Given the description of an element on the screen output the (x, y) to click on. 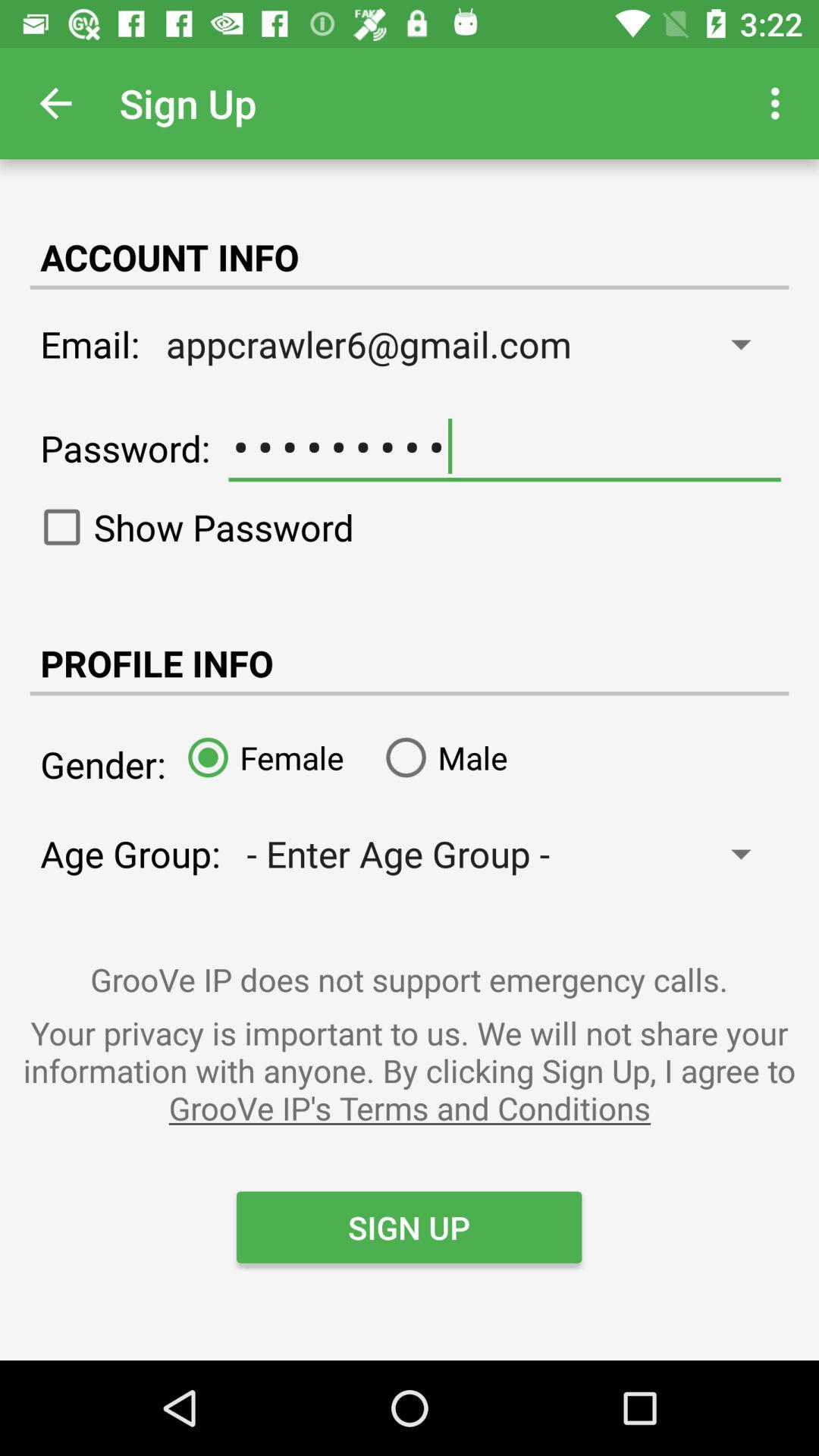
launch app to the left of sign up icon (55, 103)
